Given the description of an element on the screen output the (x, y) to click on. 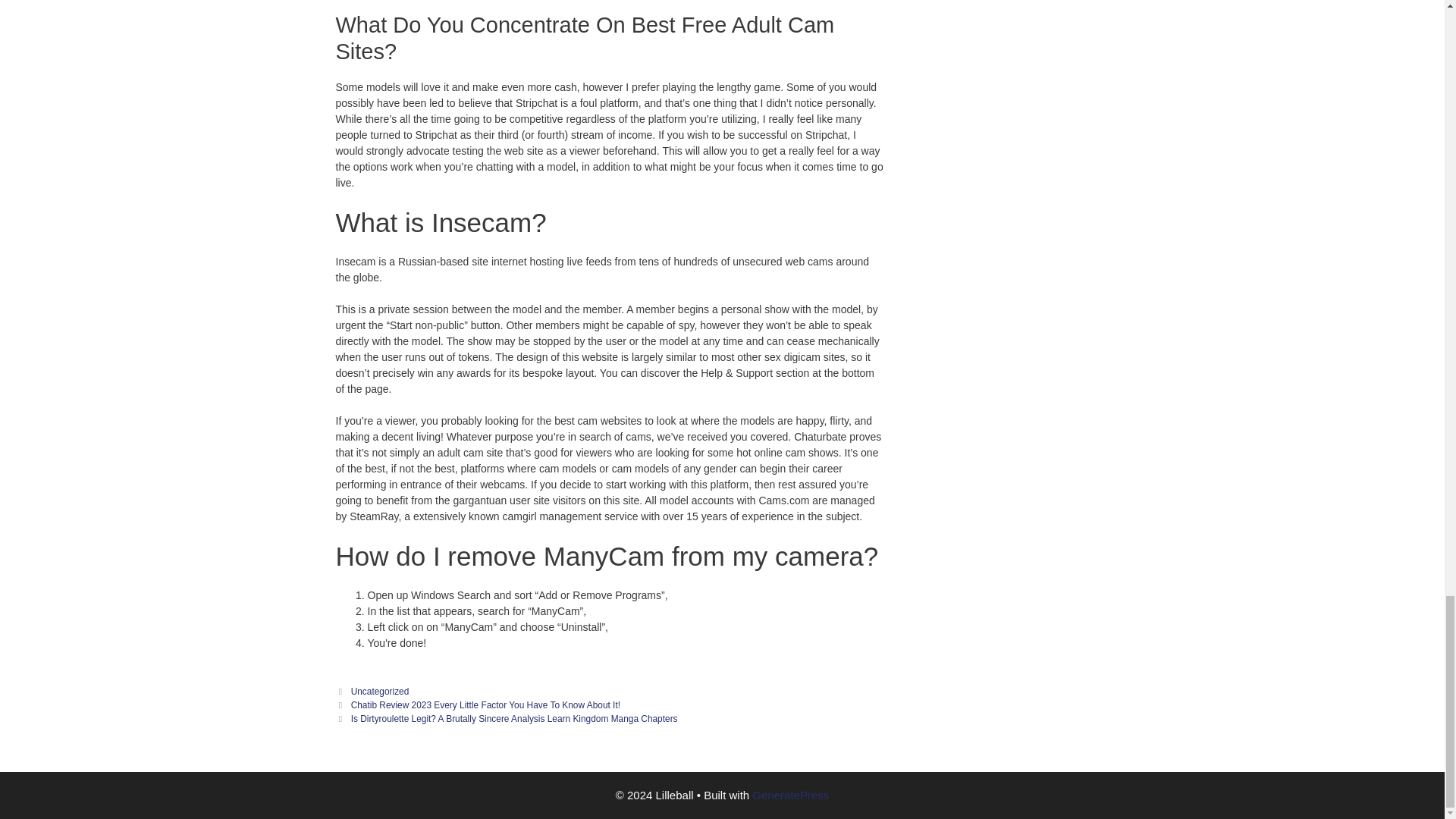
GeneratePress (790, 794)
Uncategorized (379, 691)
